Given the description of an element on the screen output the (x, y) to click on. 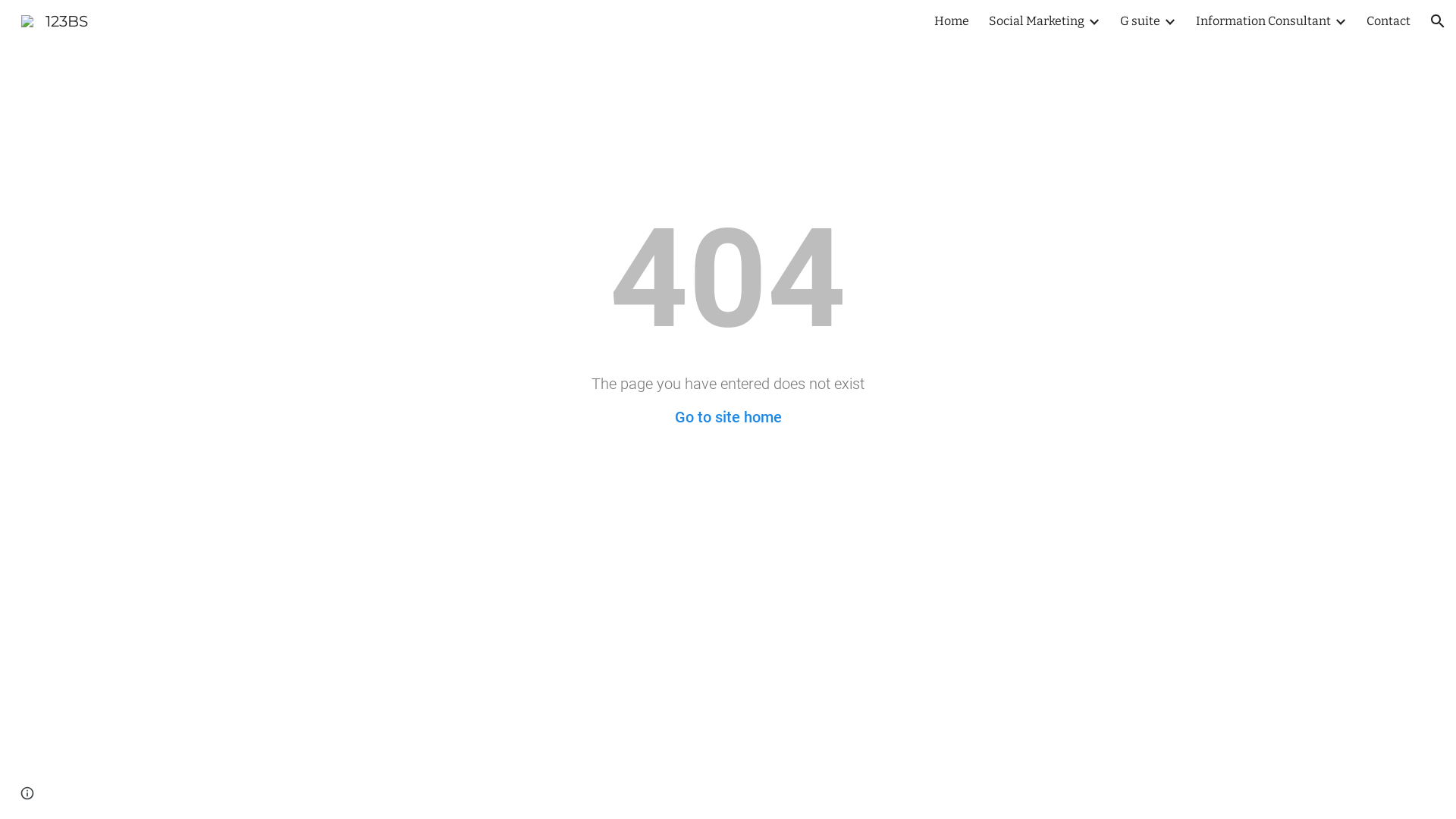
Home Element type: text (951, 20)
G suite Element type: text (1140, 20)
Expand/Collapse Element type: hover (1093, 20)
Go to site home Element type: text (727, 416)
Expand/Collapse Element type: hover (1169, 20)
Expand/Collapse Element type: hover (1339, 20)
Social Marketing Element type: text (1036, 20)
Contact Element type: text (1388, 20)
123BS Element type: text (54, 19)
Information Consultant Element type: text (1262, 20)
